Given the description of an element on the screen output the (x, y) to click on. 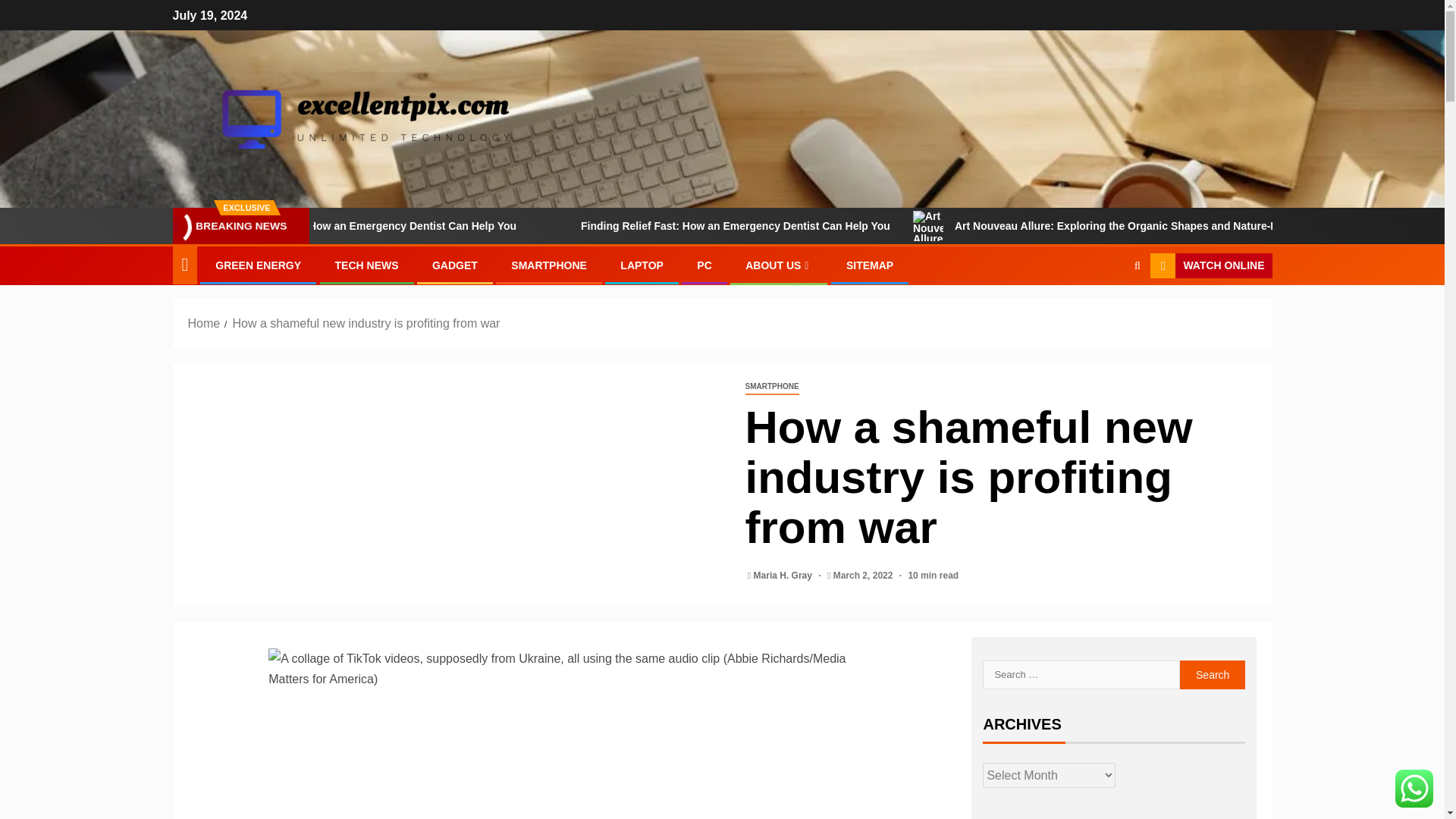
SMARTPHONE (548, 265)
Search (1212, 674)
SITEMAP (869, 265)
LAPTOP (641, 265)
WATCH ONLINE (1210, 266)
TECH NEWS (366, 265)
Maria H. Gray (784, 575)
SMARTPHONE (770, 386)
GADGET (454, 265)
Home (204, 323)
Finding Relief Fast: How an Emergency Dentist Can Help You (495, 225)
Search (1212, 674)
Search (1107, 312)
Finding Relief Fast: How an Emergency Dentist Can Help You (867, 225)
PC (704, 265)
